Given the description of an element on the screen output the (x, y) to click on. 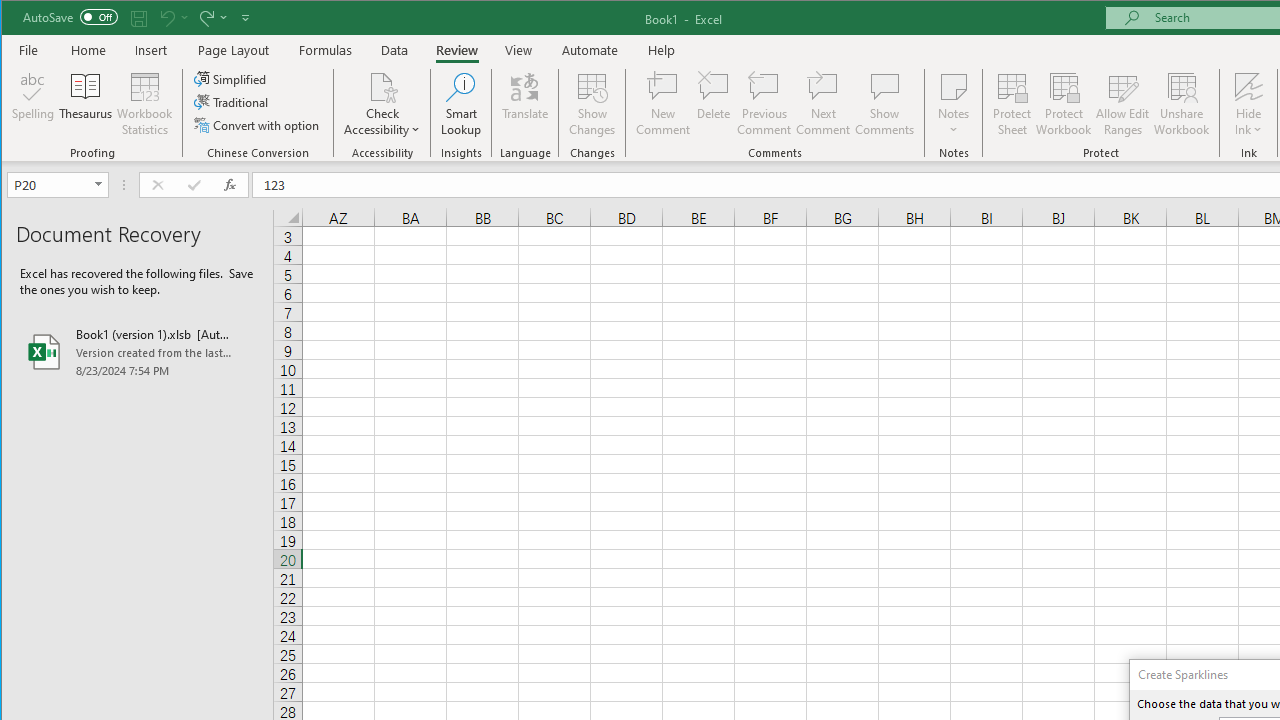
File Tab (29, 49)
Help (661, 50)
Redo (205, 17)
Thesaurus... (86, 104)
Protect Workbook... (1064, 104)
Notes (954, 104)
View (518, 50)
Data (395, 50)
Show Changes (592, 104)
Hide Ink (1248, 86)
Check Accessibility (381, 86)
Home (88, 50)
Hide Ink (1248, 104)
Previous Comment (763, 104)
Protect Sheet... (1012, 104)
